Given the description of an element on the screen output the (x, y) to click on. 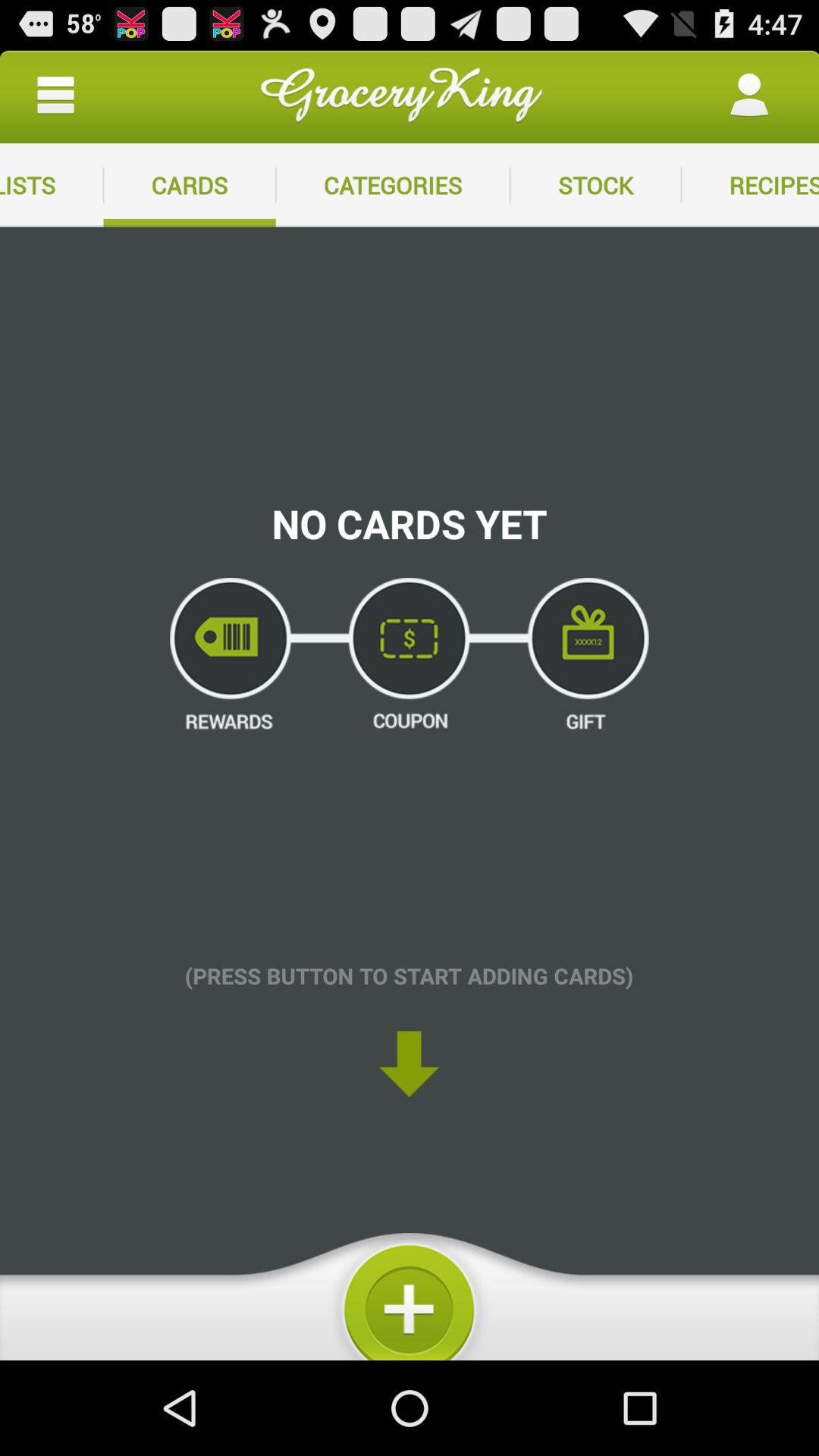
turn on lists item (51, 184)
